Given the description of an element on the screen output the (x, y) to click on. 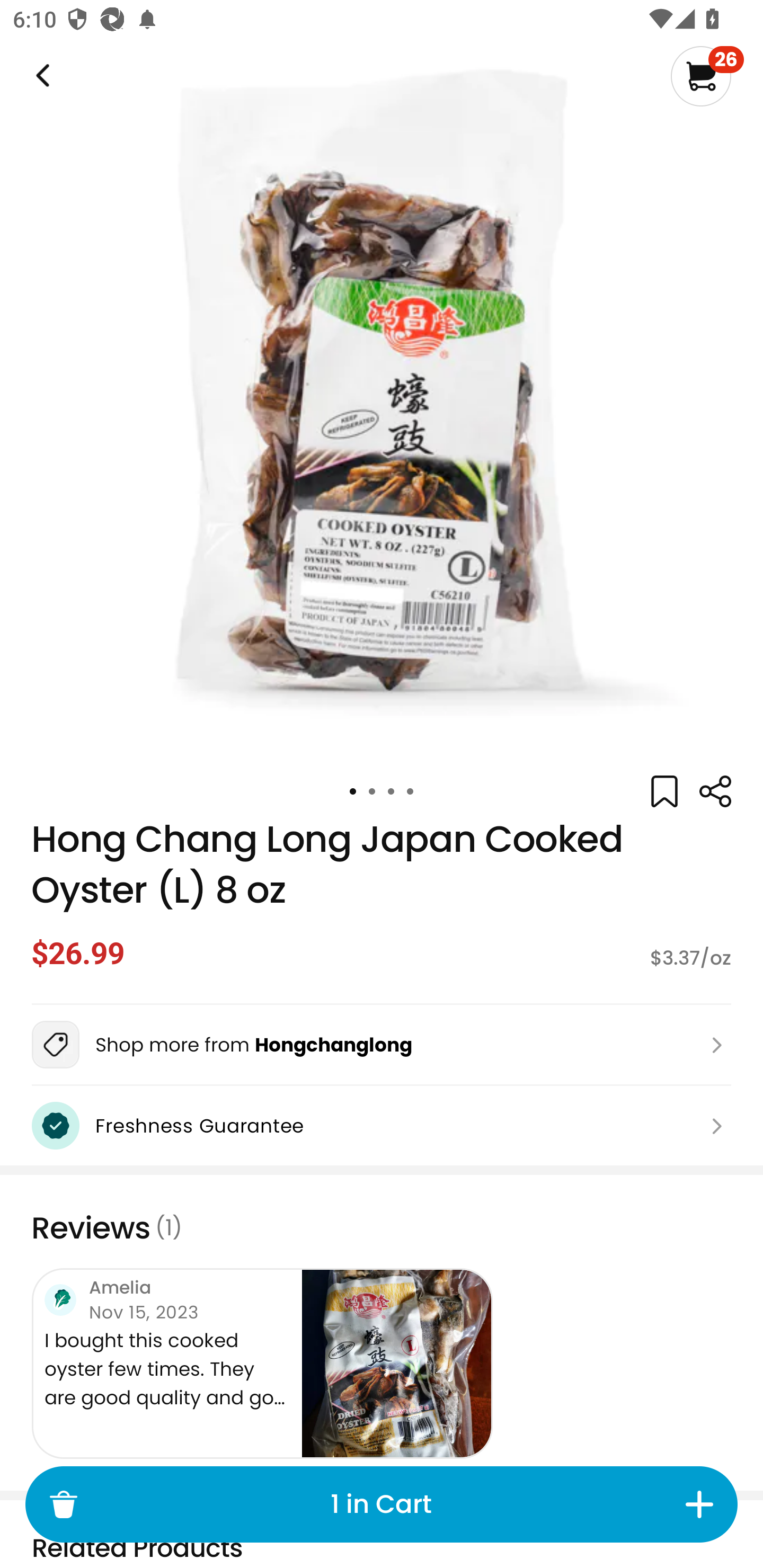
Weee! (41, 75)
26 (706, 75)
Weee! (714, 791)
Shop more from Hongchanglong Weee! (381, 1045)
Freshness Guarantee (381, 1125)
Reviews (1) (381, 1228)
1 in Cart (381, 1504)
1 in Cart (380, 1504)
